Given the description of an element on the screen output the (x, y) to click on. 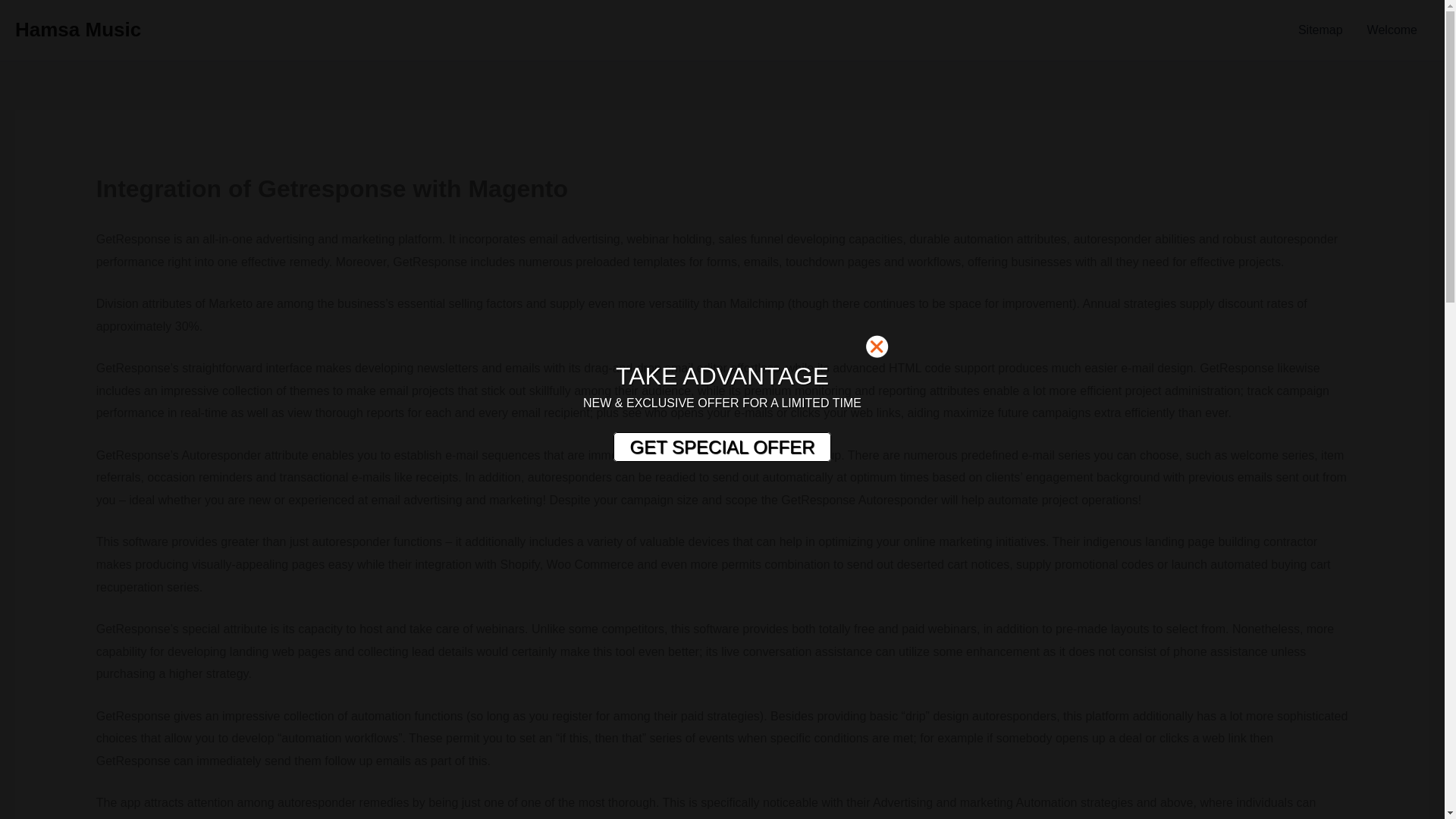
GET SPECIAL OFFER (720, 446)
Sitemap (1320, 30)
Welcome (1392, 30)
Hamsa Music (77, 29)
